Given the description of an element on the screen output the (x, y) to click on. 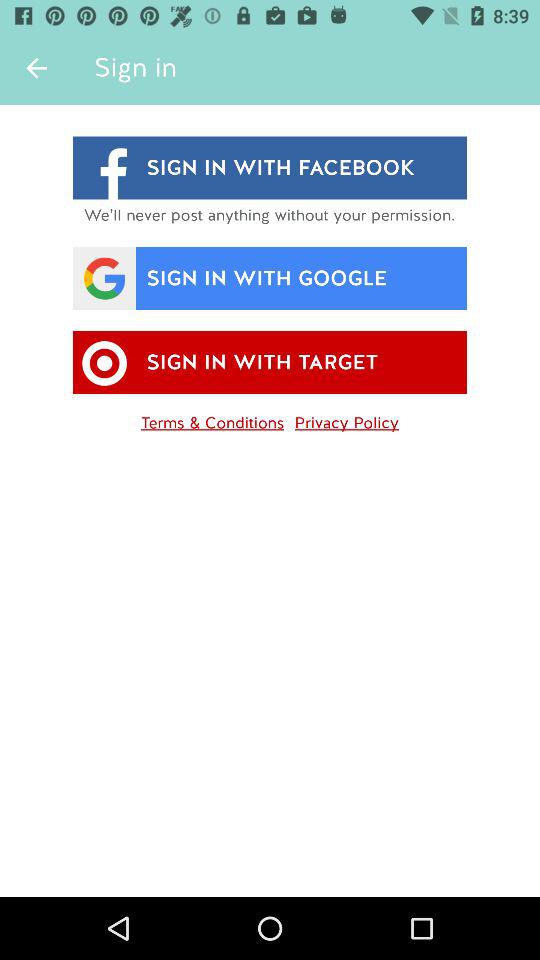
press icon below the sign in with icon (346, 419)
